Given the description of an element on the screen output the (x, y) to click on. 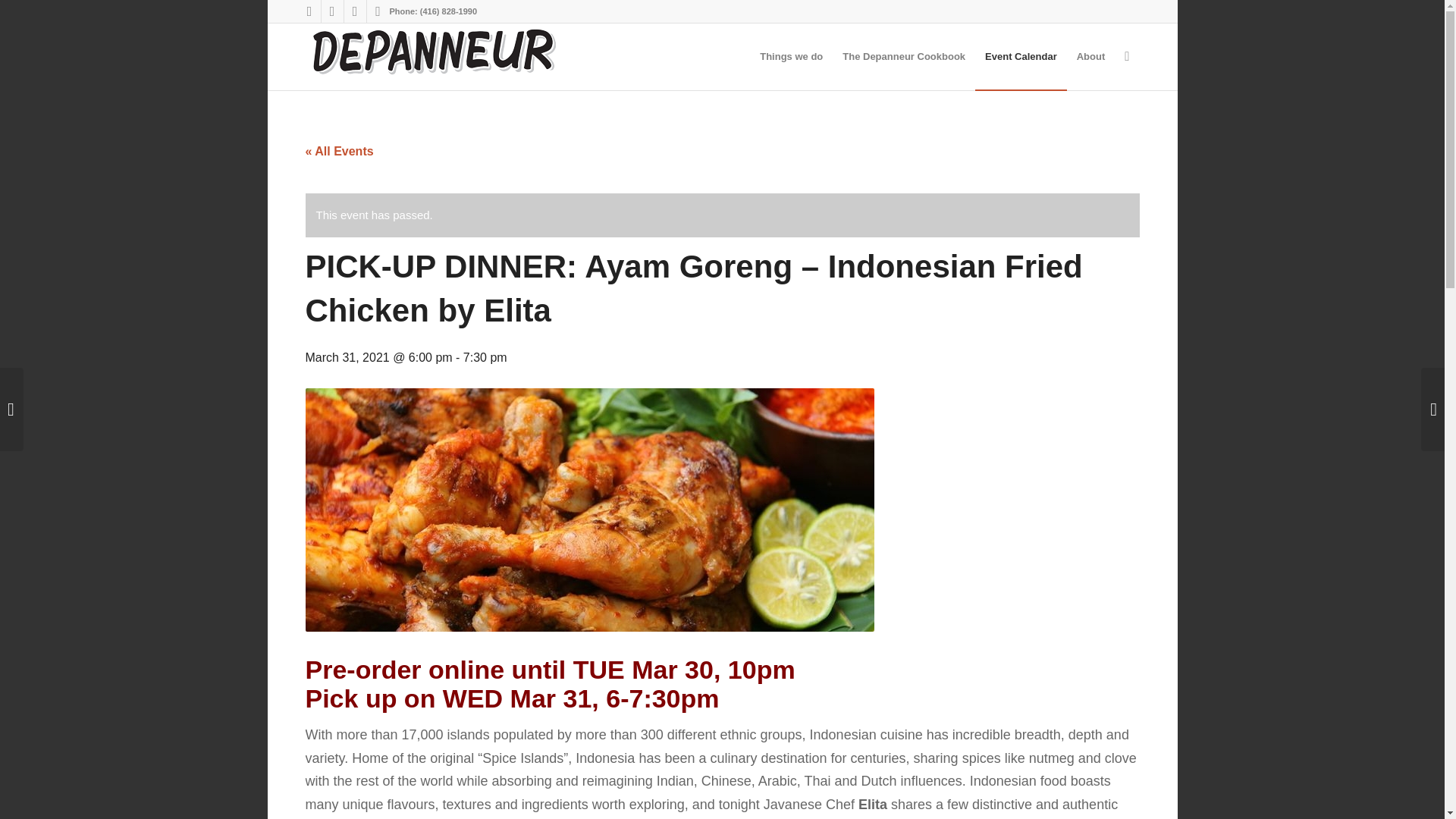
Mail (378, 11)
Twitter (354, 11)
Facebook (309, 11)
Instagram (332, 11)
Things we do (790, 56)
